Given the description of an element on the screen output the (x, y) to click on. 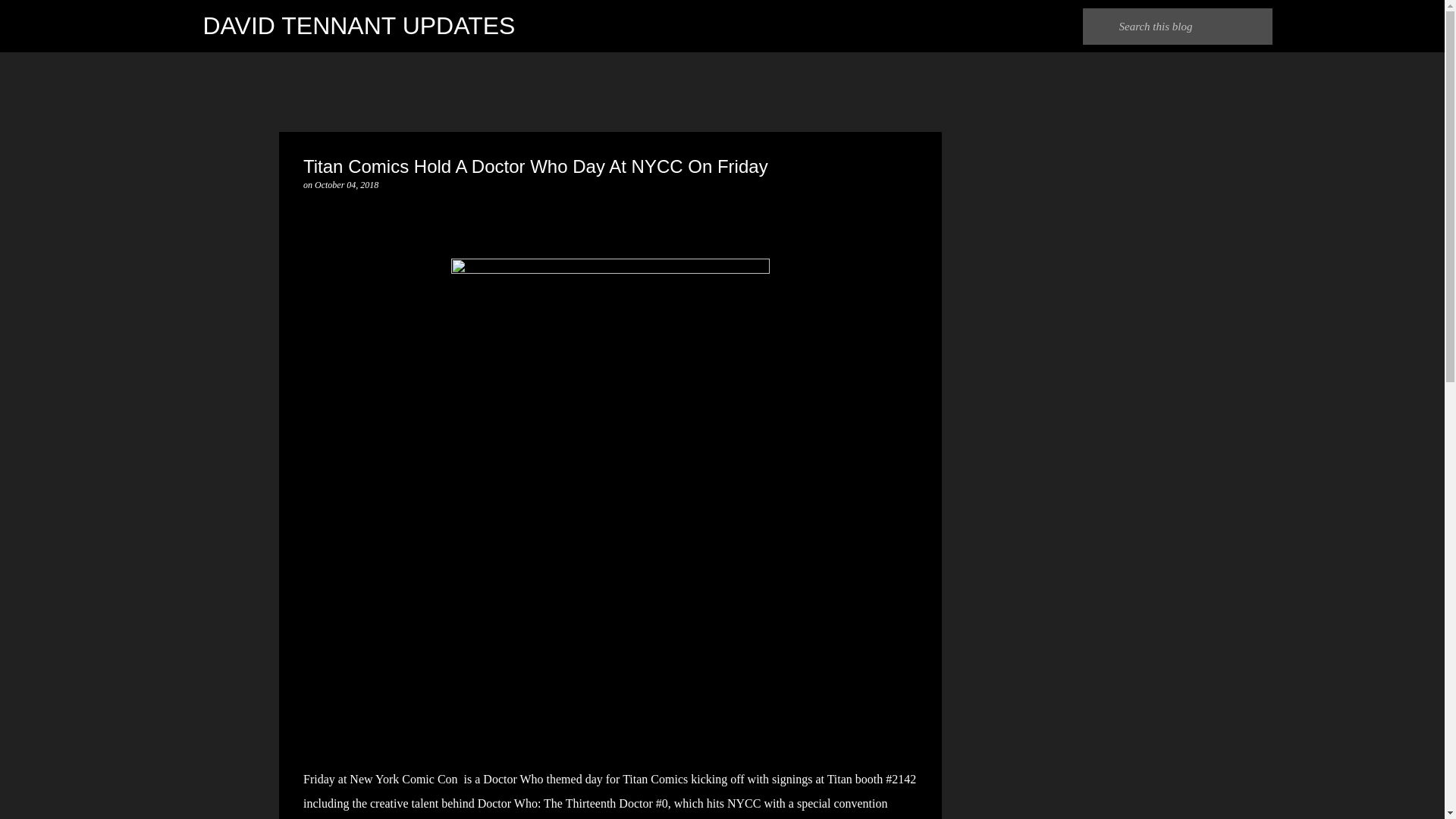
permanent link (346, 184)
October 04, 2018 (346, 184)
DAVID TENNANT UPDATES (359, 25)
